Given the description of an element on the screen output the (x, y) to click on. 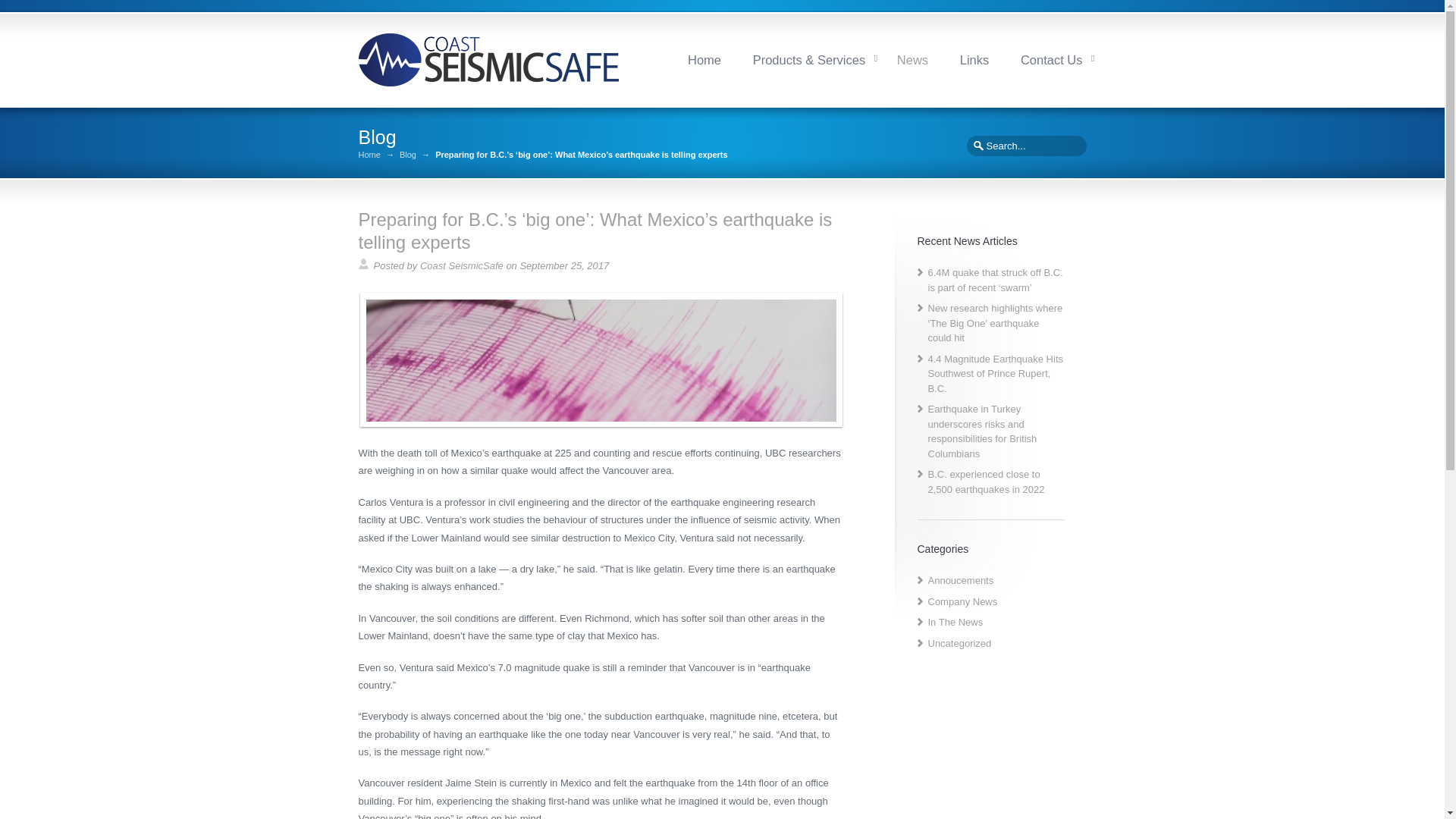
Blog (407, 154)
B.C. experienced close to 2,500 earthquakes in 2022 (986, 481)
News (912, 59)
In The News (956, 622)
Uncategorized (959, 643)
Contact Us (1051, 59)
Coast SeismicSafe (461, 265)
Annoucements (961, 580)
Posts by Coast SeismicSafe (461, 265)
Company News (962, 601)
Home (704, 59)
Home (369, 154)
Search... (1024, 145)
